Given the description of an element on the screen output the (x, y) to click on. 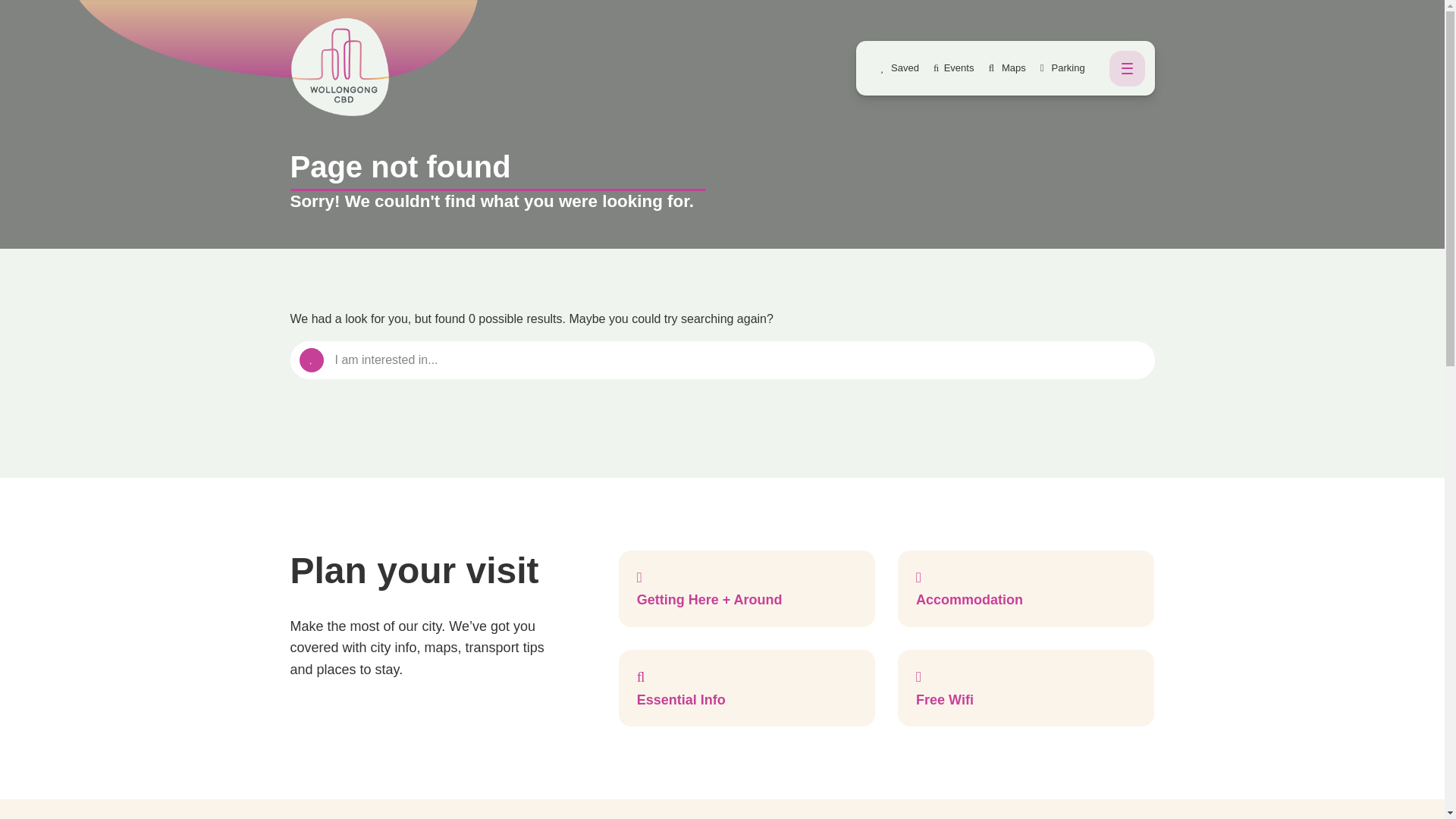
Events (953, 68)
Saved (899, 68)
Maps (1007, 68)
Parking (1062, 68)
